Given the description of an element on the screen output the (x, y) to click on. 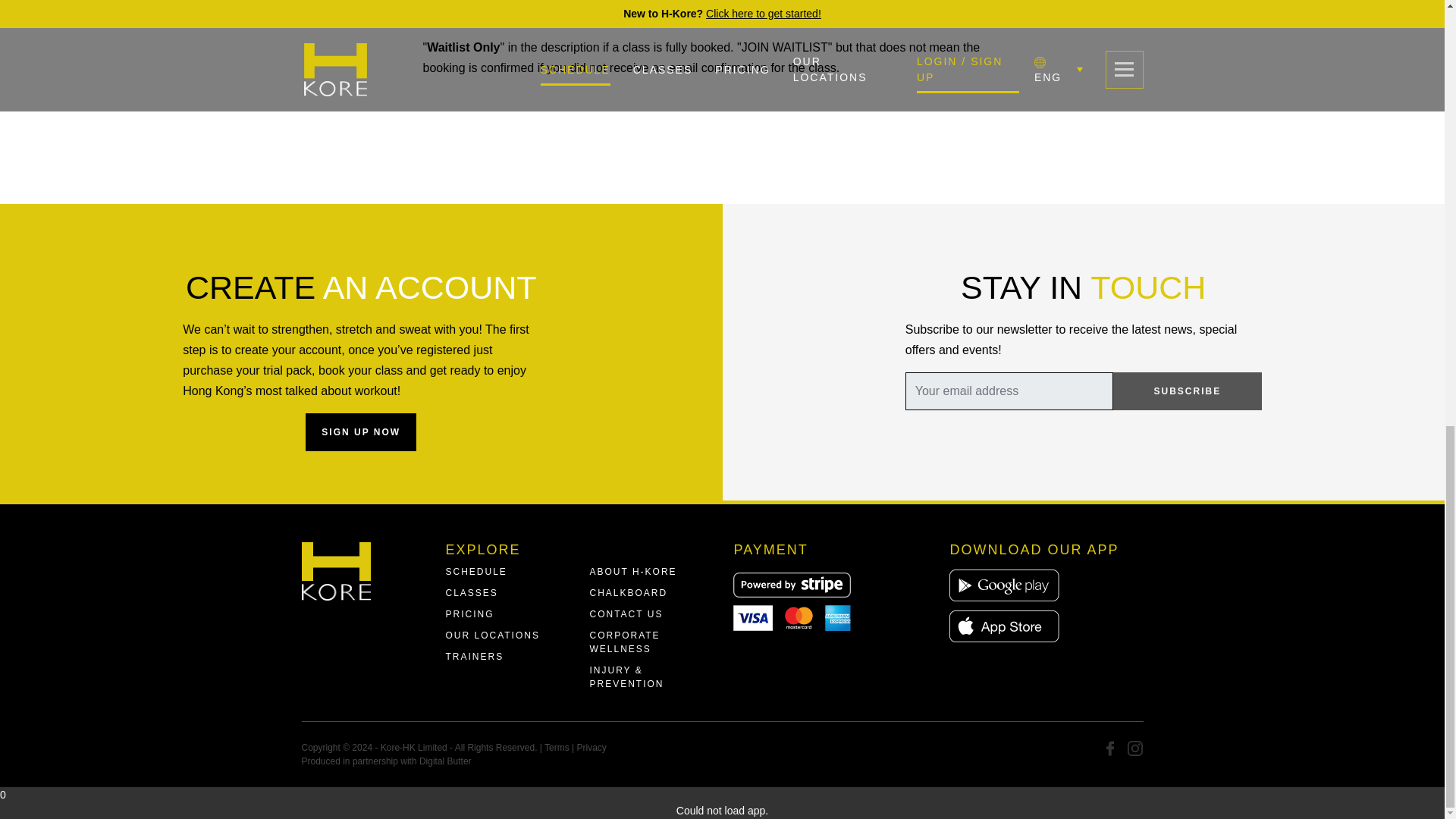
Subscribe (1187, 391)
